Given the description of an element on the screen output the (x, y) to click on. 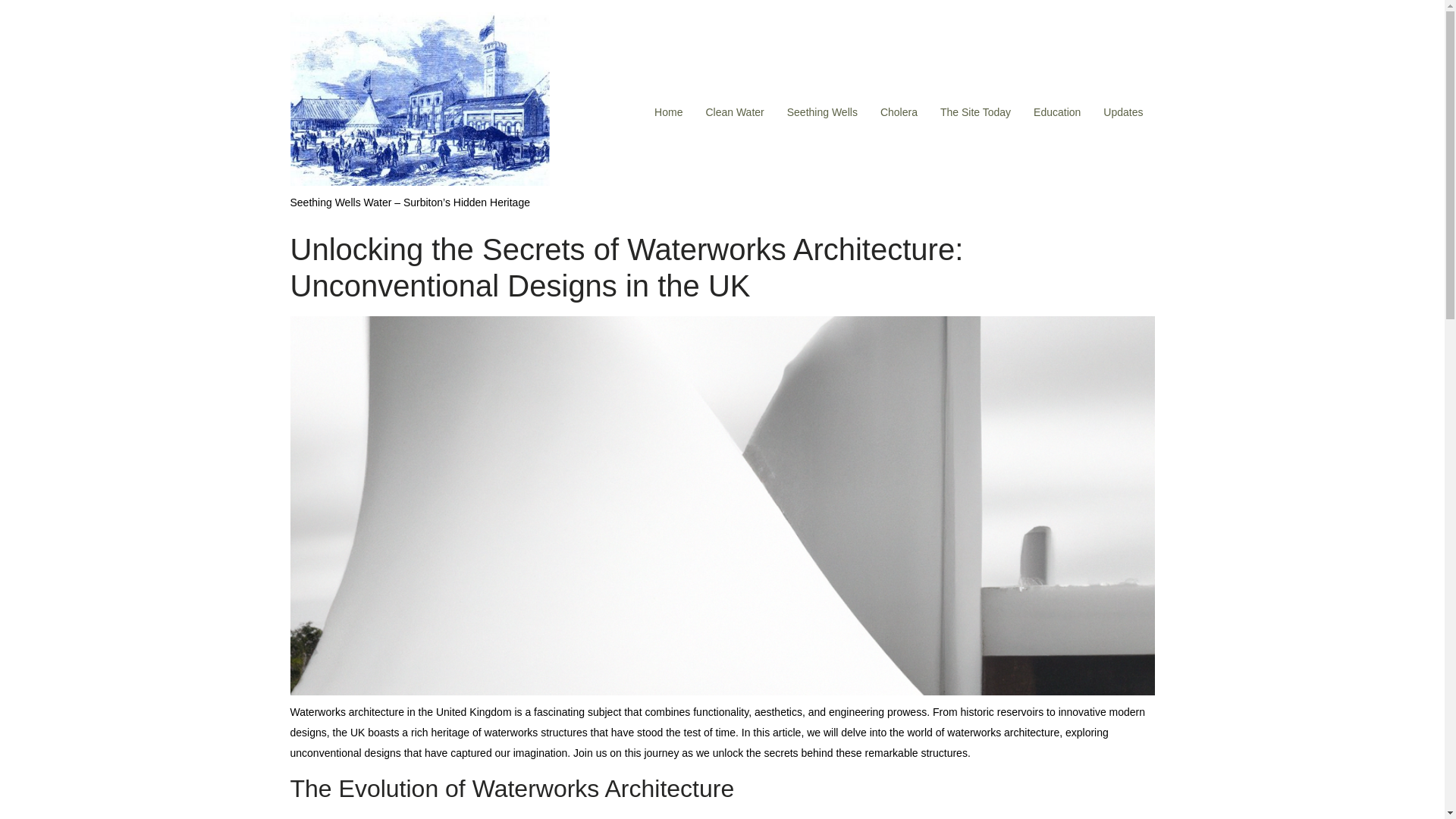
Clean Water (734, 112)
Seething Wells (822, 112)
Education (1057, 112)
The Site Today (975, 112)
Home (668, 112)
Updates (1123, 112)
Cholera (898, 112)
